Given the description of an element on the screen output the (x, y) to click on. 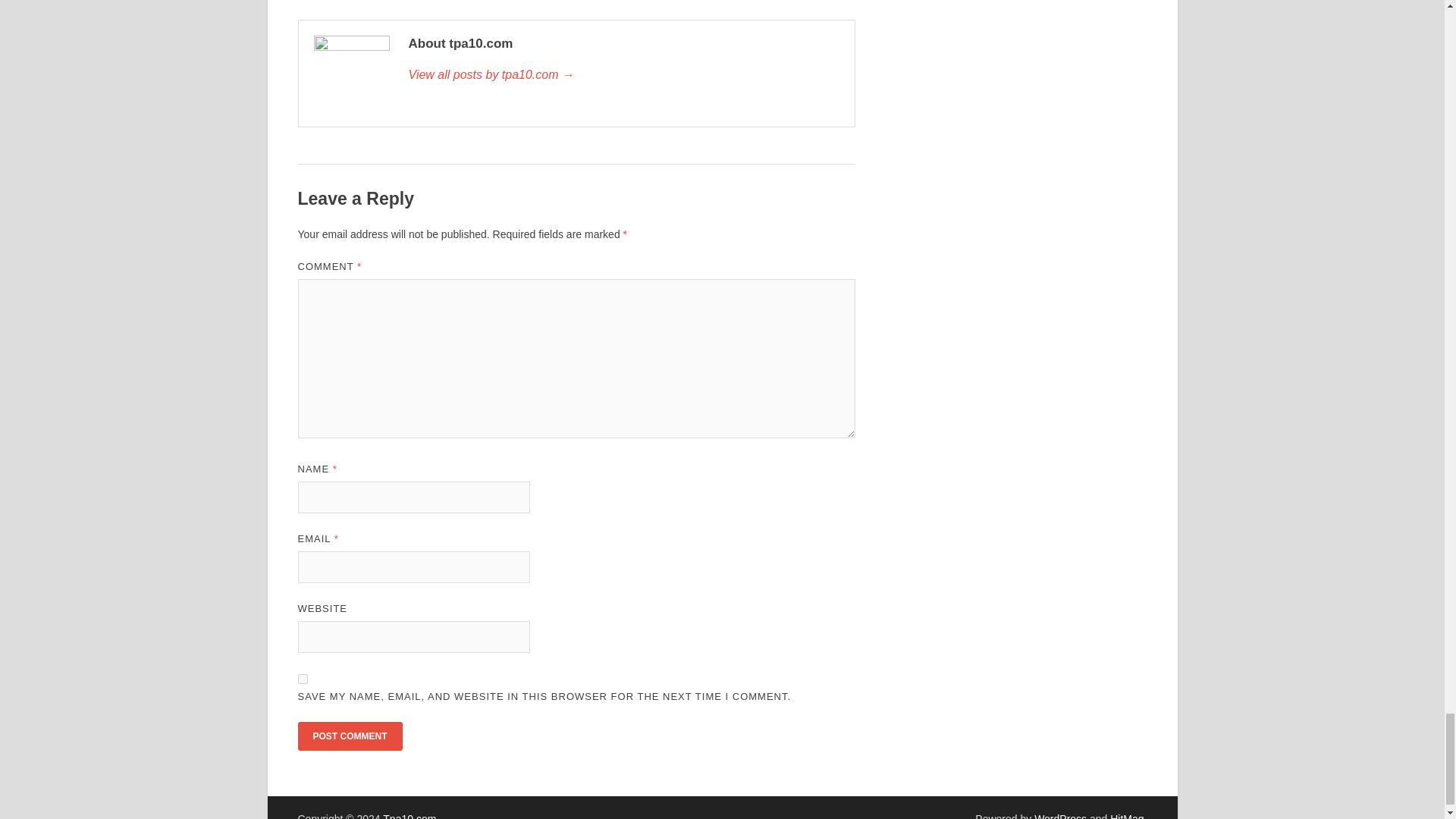
tpa10.com (622, 75)
yes (302, 678)
Post Comment (349, 736)
